Given the description of an element on the screen output the (x, y) to click on. 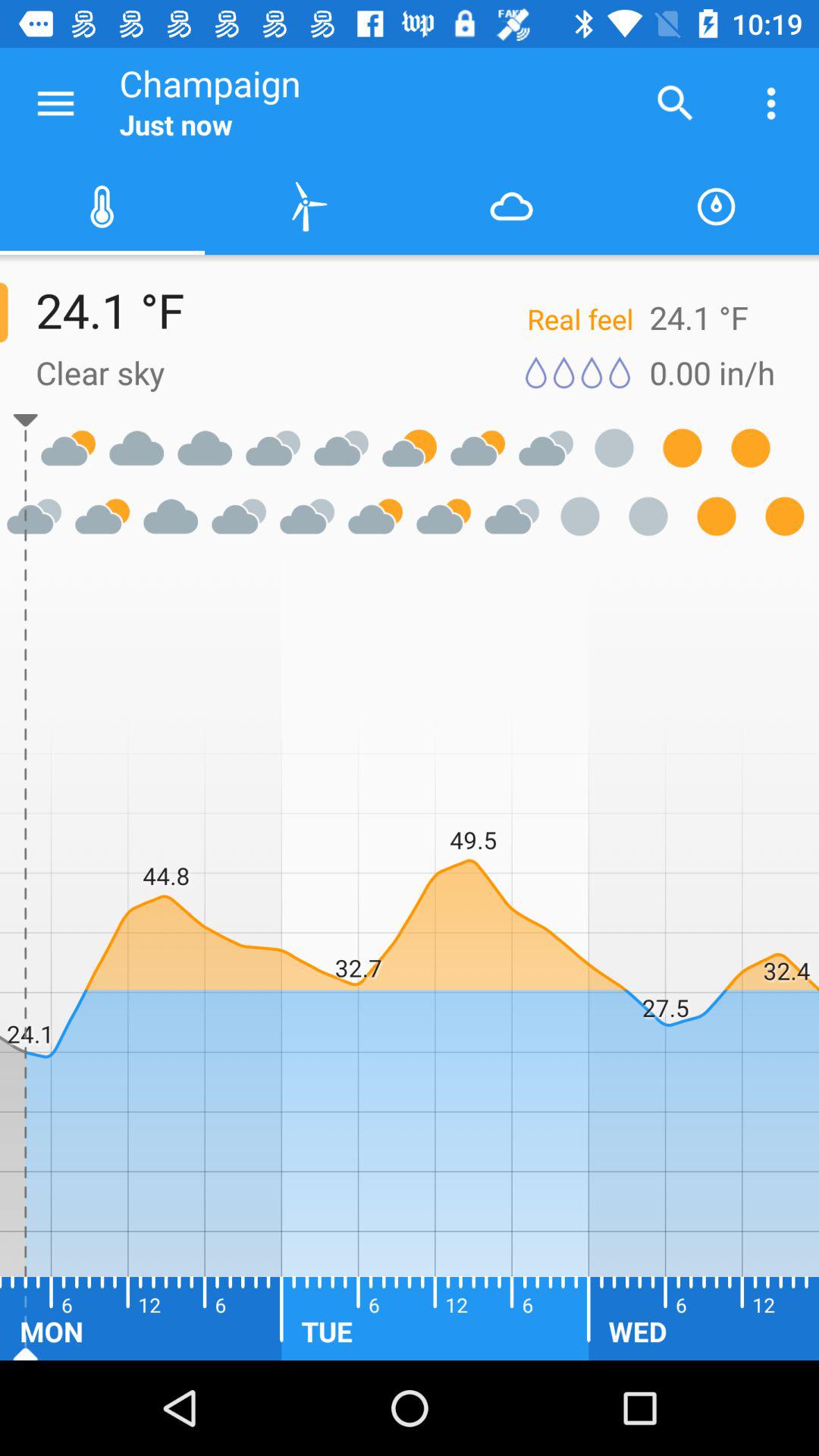
launch the icon to the right of champaign icon (675, 103)
